Given the description of an element on the screen output the (x, y) to click on. 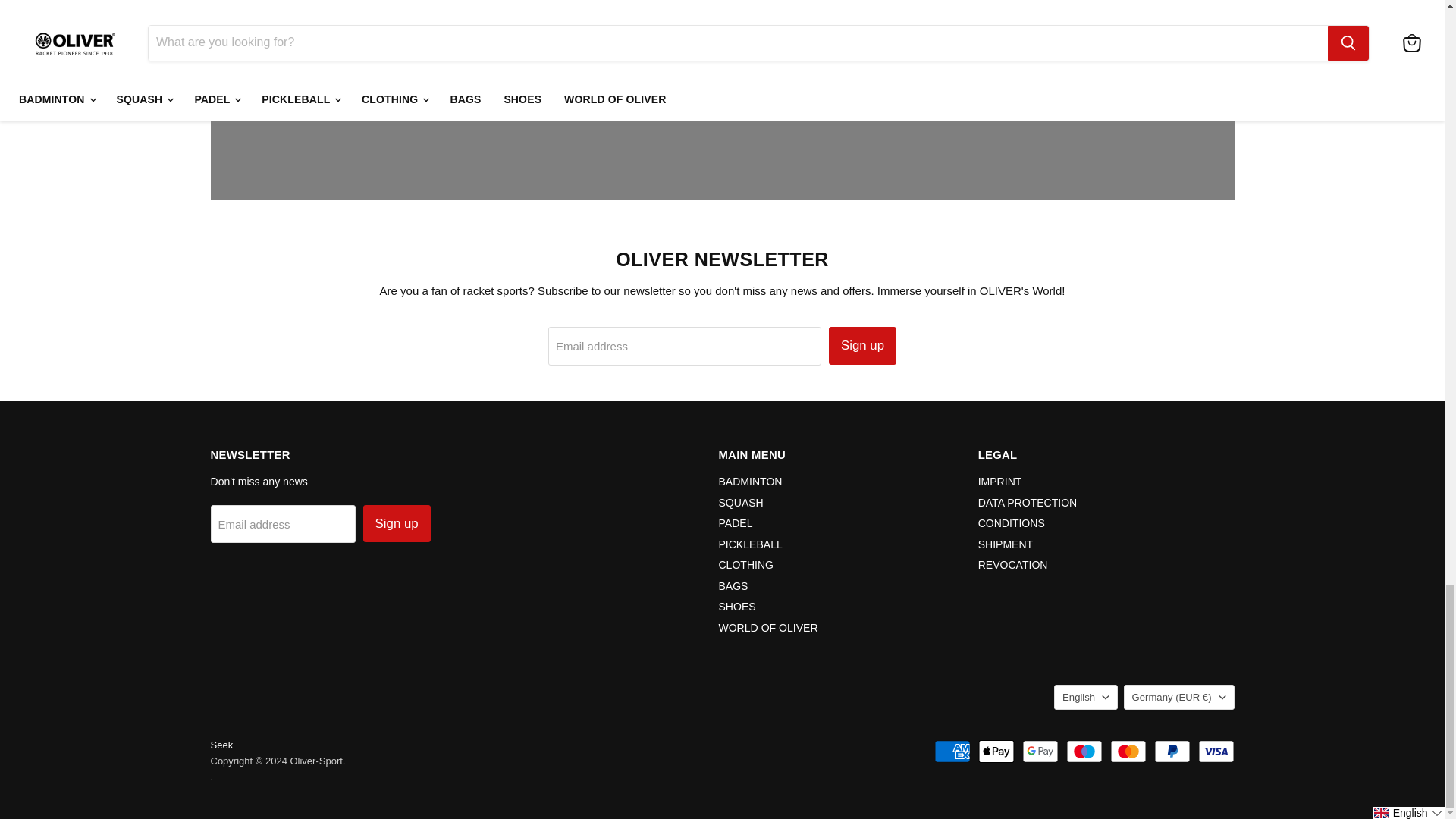
American Express (952, 751)
Apple Pay (996, 751)
Maestro (1083, 751)
Google Pay (1040, 751)
